Given the description of an element on the screen output the (x, y) to click on. 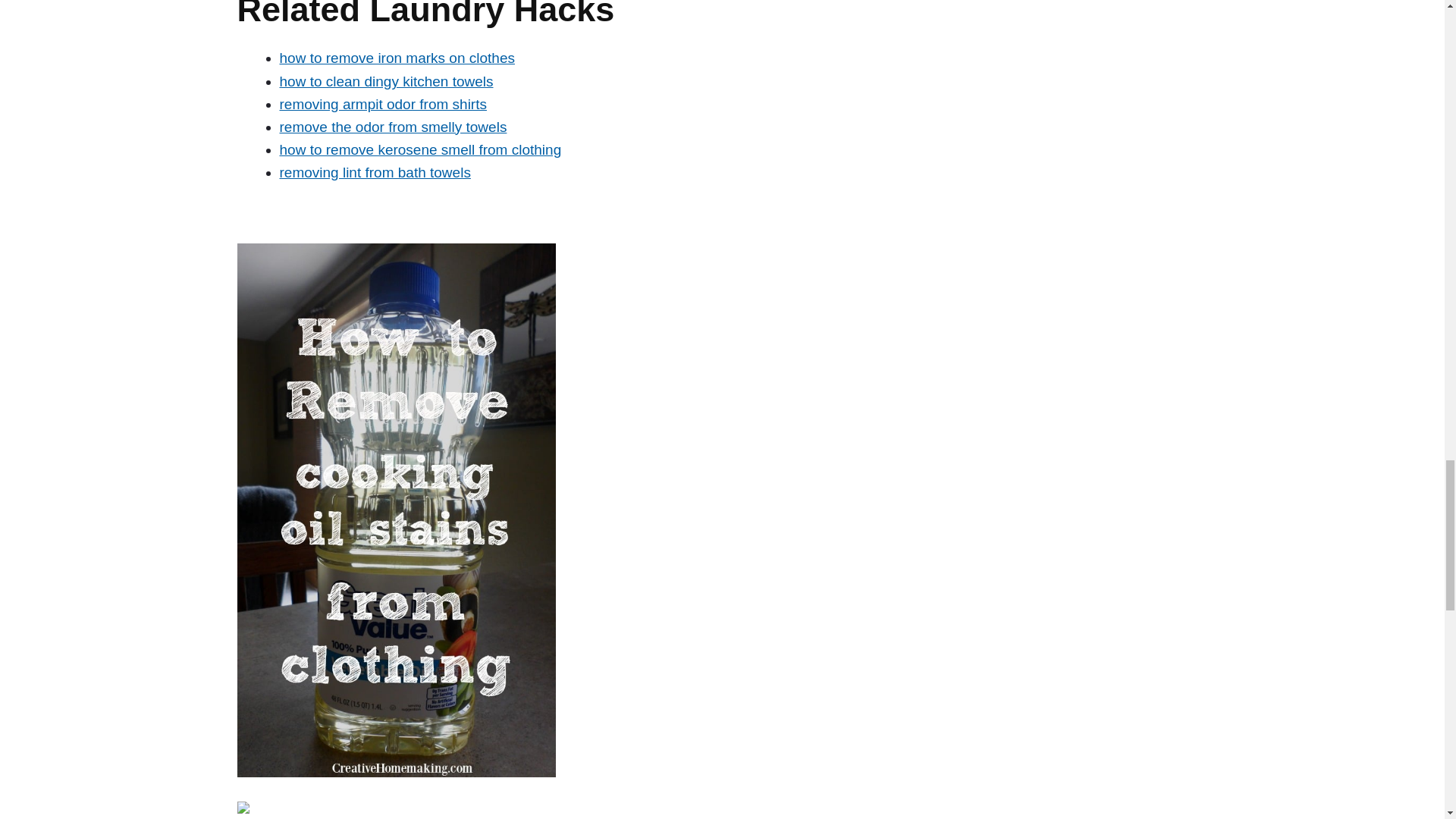
removing armpit odor from shirts (382, 104)
how to remove iron marks on clothes (396, 57)
remove the odor from smelly towels (392, 126)
how to clean dingy kitchen towels (386, 80)
